Given the description of an element on the screen output the (x, y) to click on. 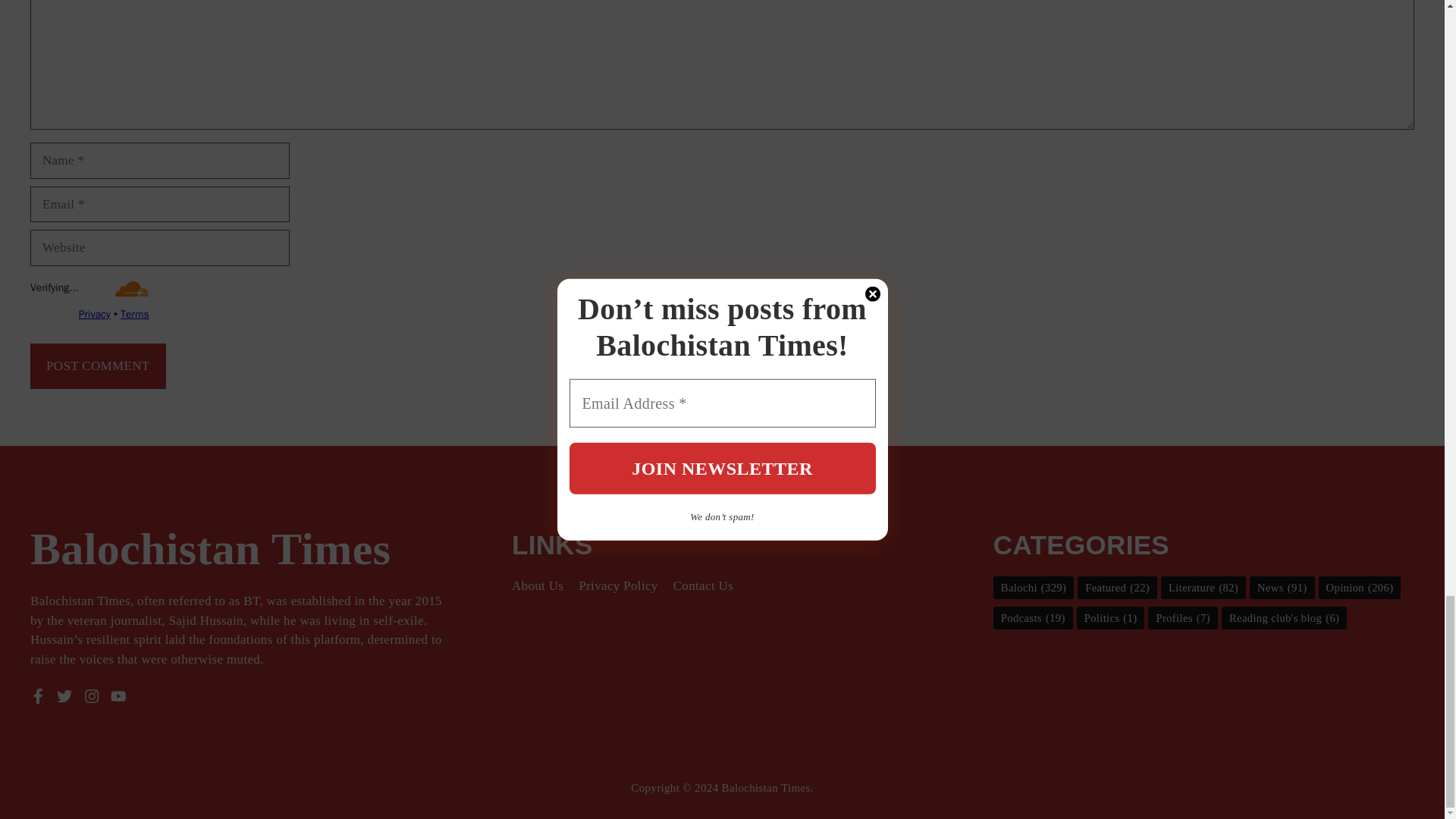
Post Comment (97, 366)
Post Comment (97, 366)
Contact Us (702, 585)
Privacy Policy (618, 585)
About Us (537, 585)
